Given the description of an element on the screen output the (x, y) to click on. 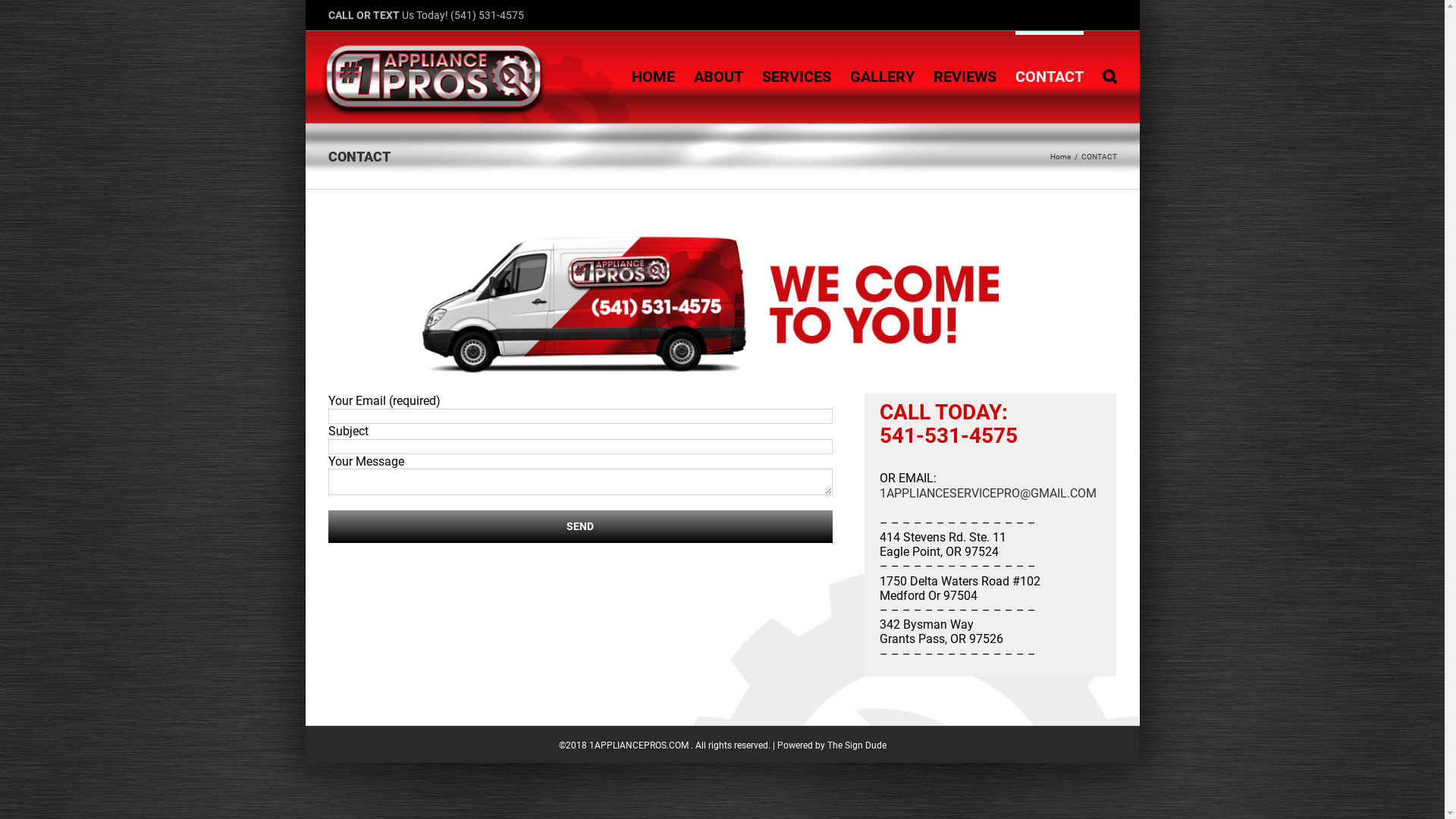
1APPLIANCESERVICEPRO@GMAIL.COM Element type: text (987, 493)
Search Element type: hover (1109, 74)
CONTACT Element type: text (1048, 74)
GALLERY Element type: text (881, 74)
Home Element type: text (1059, 155)
Send Element type: text (579, 526)
REVIEWS Element type: text (963, 74)
HOME Element type: text (652, 74)
SERVICES Element type: text (795, 74)
ABOUT Element type: text (717, 74)
1-APPLIANCE-CONTACT-HDR Element type: hover (721, 302)
The Sign Dude Element type: text (855, 745)
